Given the description of an element on the screen output the (x, y) to click on. 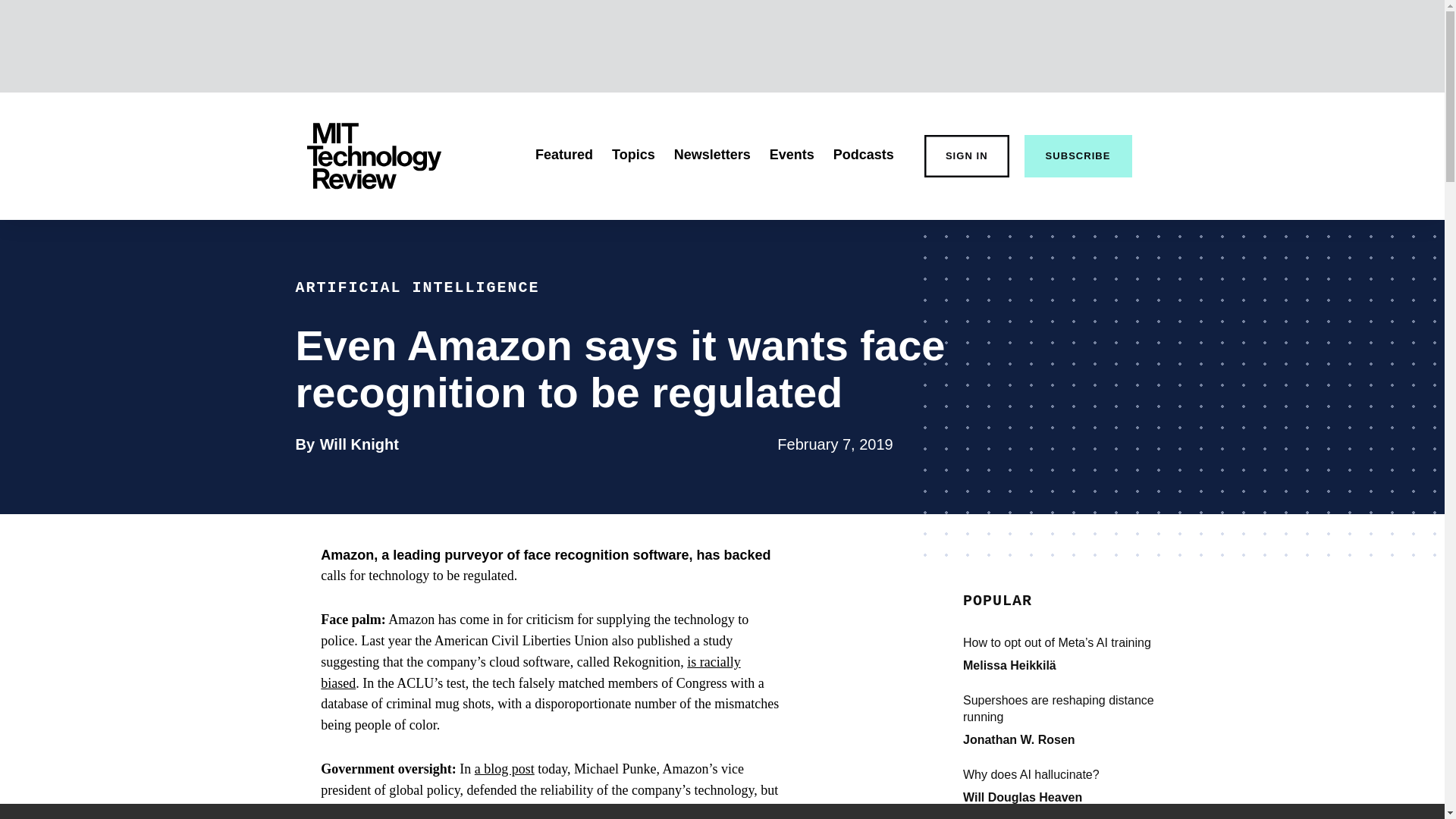
Topics (633, 154)
Supershoes are reshaping distance running (1075, 708)
Newsletters (712, 154)
Featured (563, 154)
MIT Technology Review (373, 155)
Jonathan W. Rosen (1018, 739)
a blog post (359, 443)
Will Douglas Heaven (504, 768)
is racially biased (1021, 797)
